Given the description of an element on the screen output the (x, y) to click on. 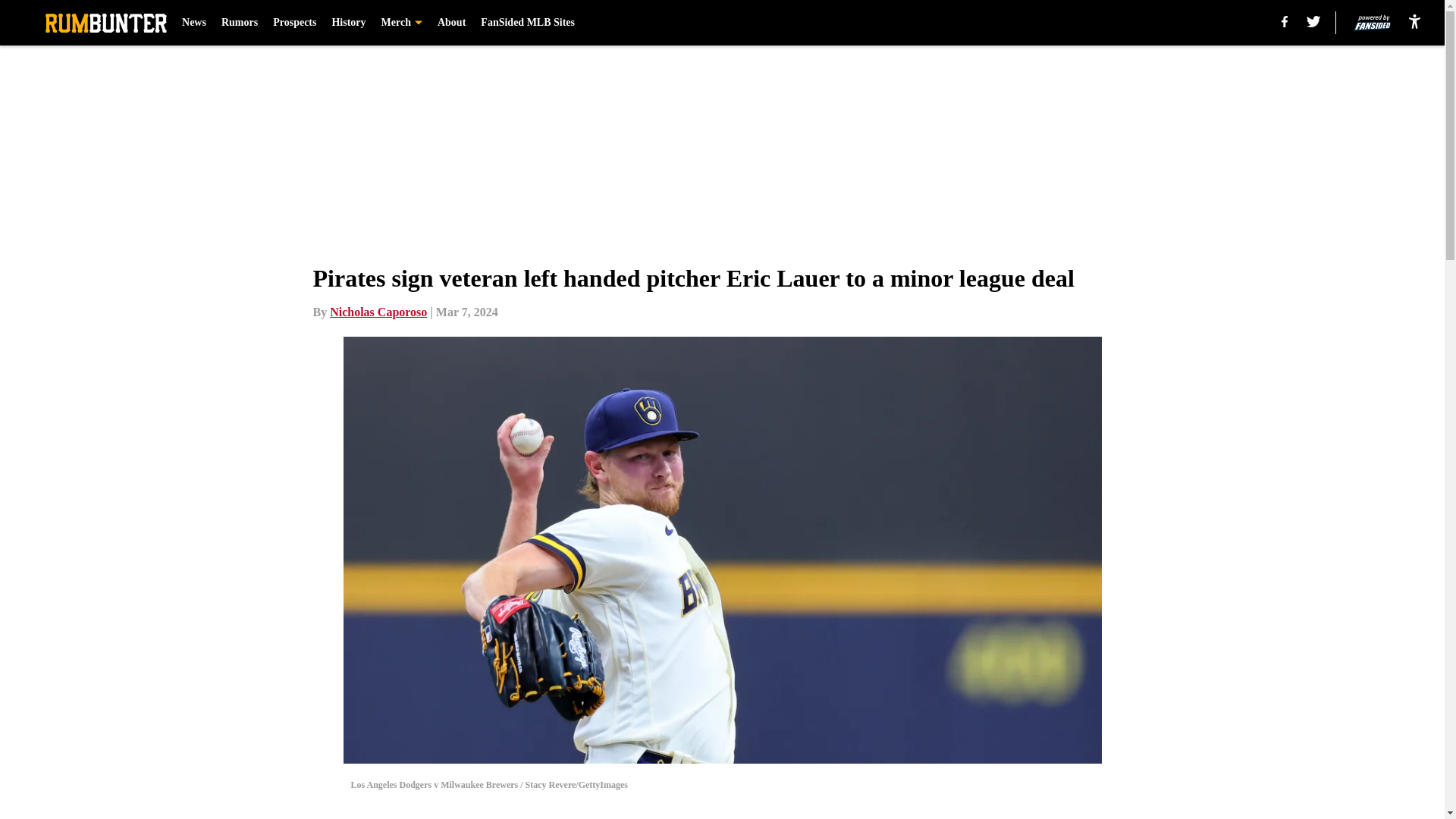
Prospects (294, 22)
History (348, 22)
About (451, 22)
Nicholas Caporoso (378, 311)
Rumors (239, 22)
FanSided MLB Sites (527, 22)
News (194, 22)
